Given the description of an element on the screen output the (x, y) to click on. 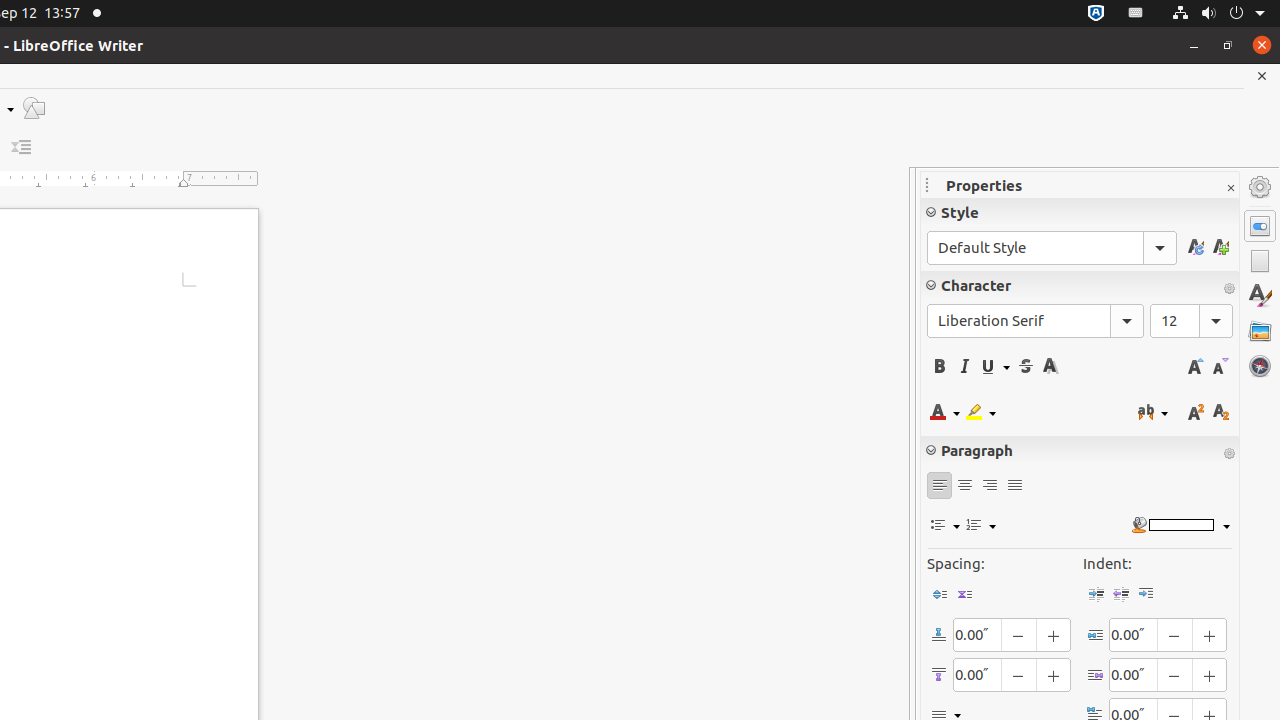
Decrease Element type: push-button (21, 147)
Background Color Element type: push-button (1180, 525)
Character Spacing Element type: push-button (1153, 412)
Hanging Indent Element type: push-button (1145, 594)
:1.72/StatusNotifierItem Element type: menu (1096, 13)
